Given the description of an element on the screen output the (x, y) to click on. 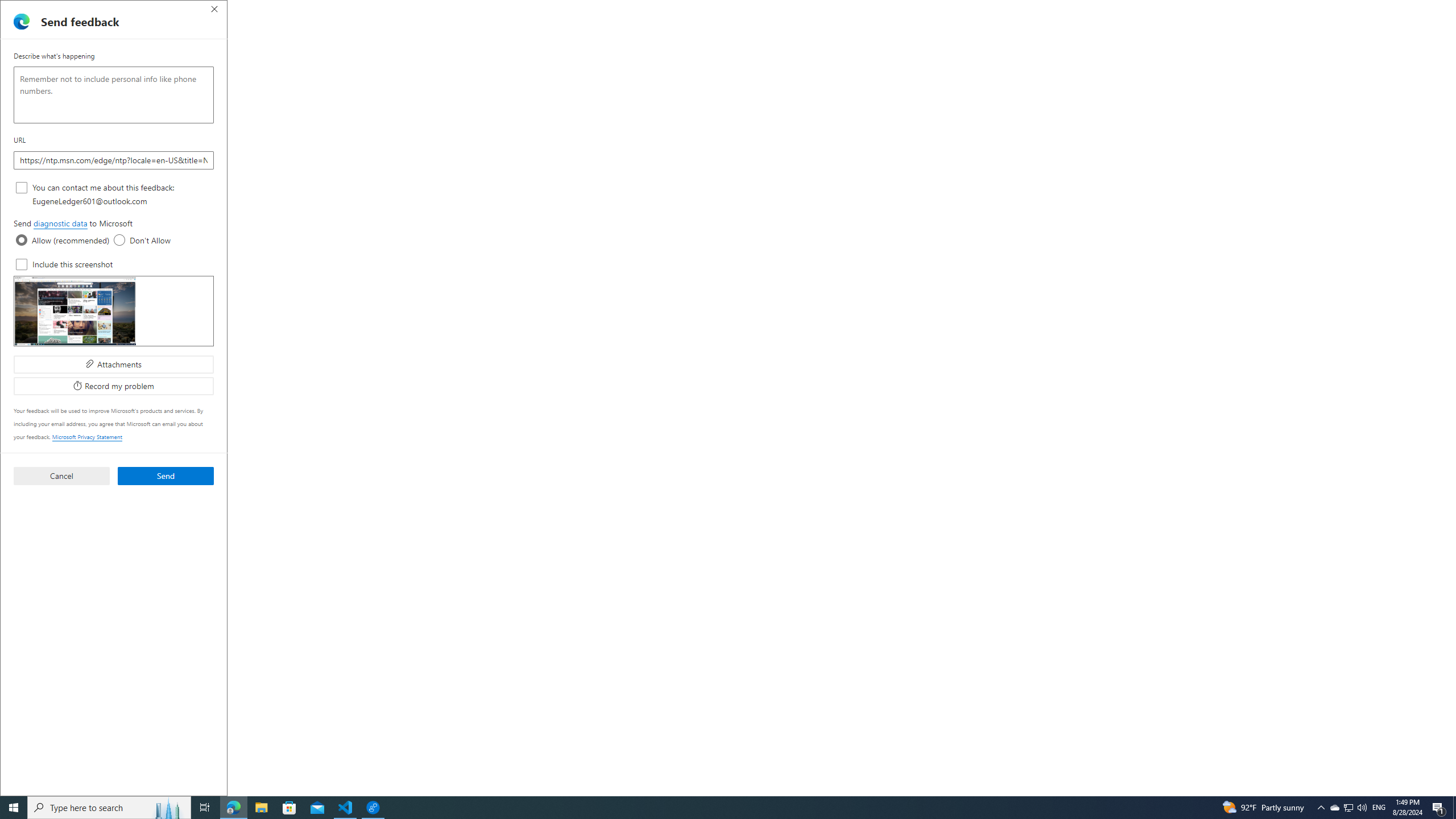
Microsoft account | Microsoft Account Privacy Settings (1219, 9)
Wildlife - MSN (569, 9)
Newsletter Sign Up (106, 9)
Streaming Coverage | T3 - Sleeping (421, 9)
Microsoft Start Sports - Sleeping (358, 9)
Copilot (Ctrl+Shift+.) (1442, 29)
How we use personal data (395, 389)
Artificial Intelligence and Microsoft Copilot capabilities (395, 583)
Collections (1369, 29)
Print (1063, 116)
amazon - Search - Sleeping (759, 9)
